Given the description of an element on the screen output the (x, y) to click on. 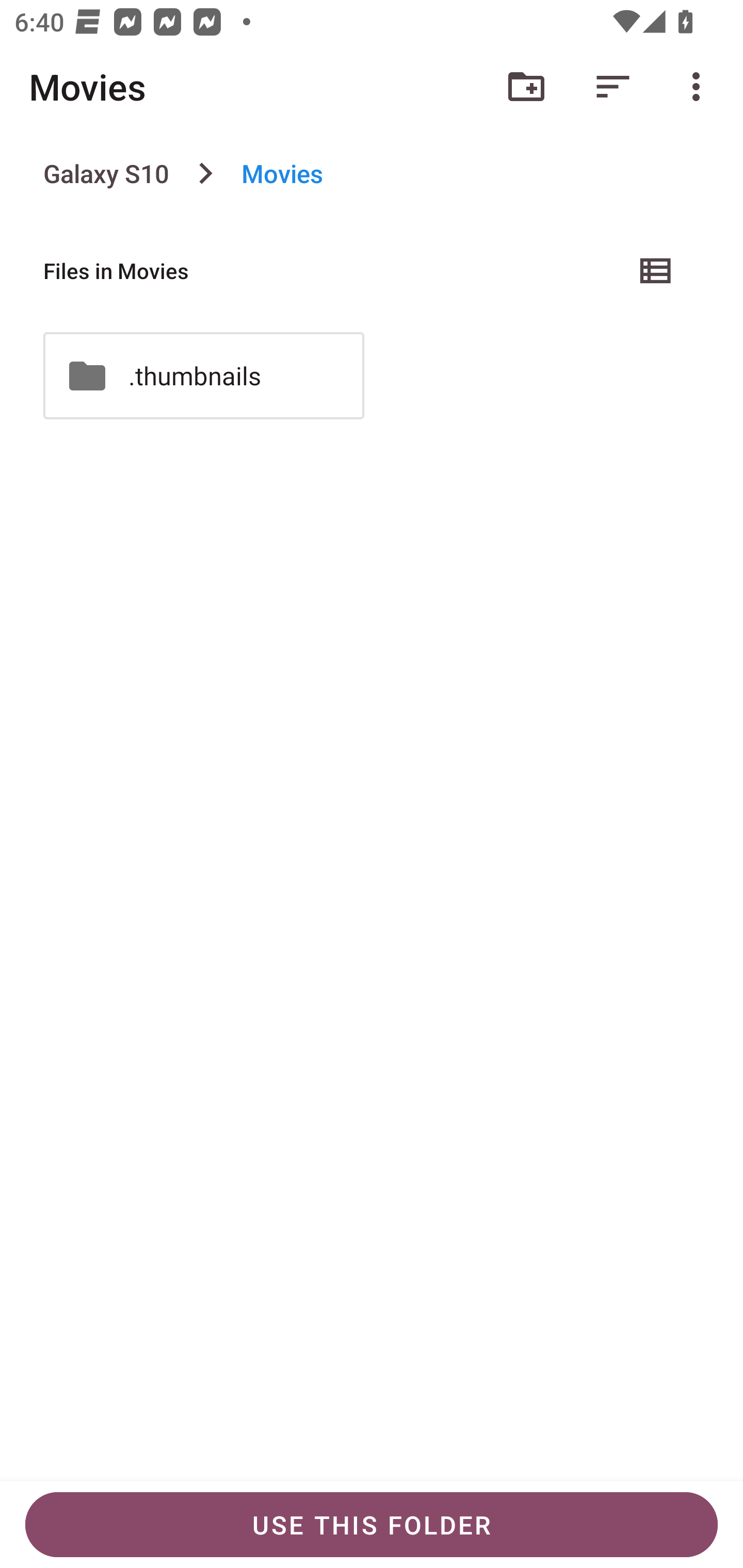
New folder (525, 86)
Sort by... (612, 86)
More options (699, 86)
List view (655, 270)
.thumbnails (203, 375)
USE THIS FOLDER (371, 1524)
